Given the description of an element on the screen output the (x, y) to click on. 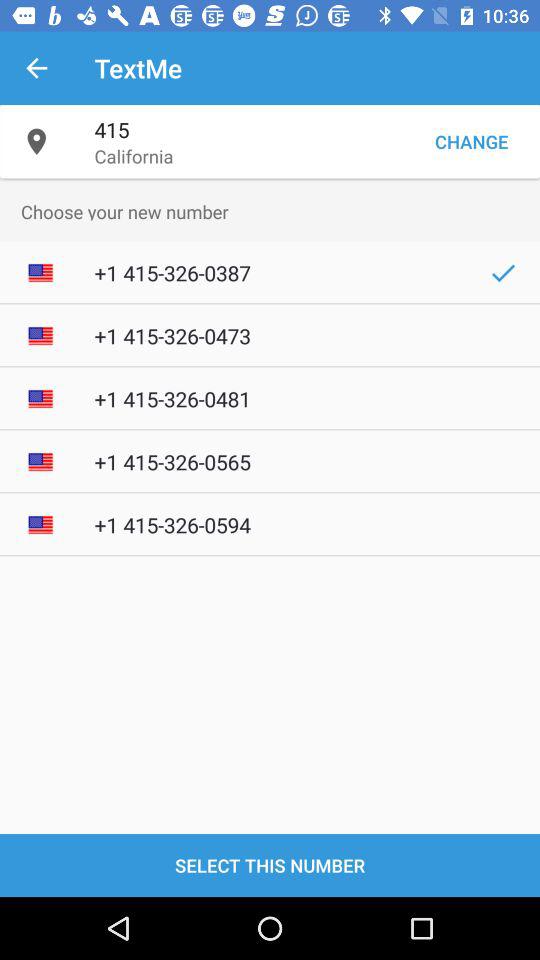
turn on item next to california (471, 141)
